Given the description of an element on the screen output the (x, y) to click on. 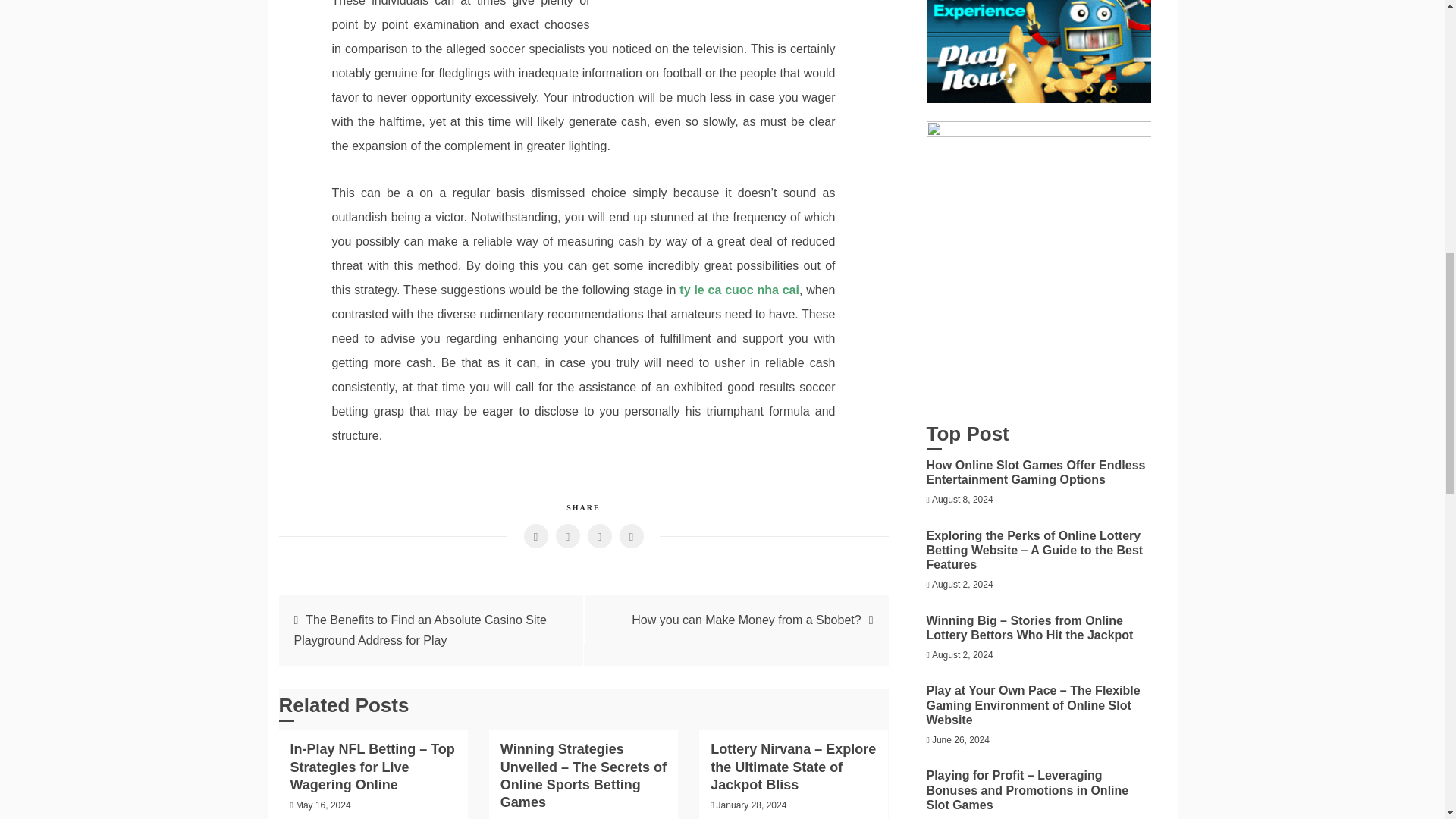
ty le ca cuoc nha cai (739, 289)
May 16, 2024 (322, 805)
April 17, 2024 (533, 818)
August 2, 2024 (961, 584)
January 28, 2024 (751, 805)
How you can Make Money from a Sbobet? (745, 619)
August 8, 2024 (961, 499)
